Given the description of an element on the screen output the (x, y) to click on. 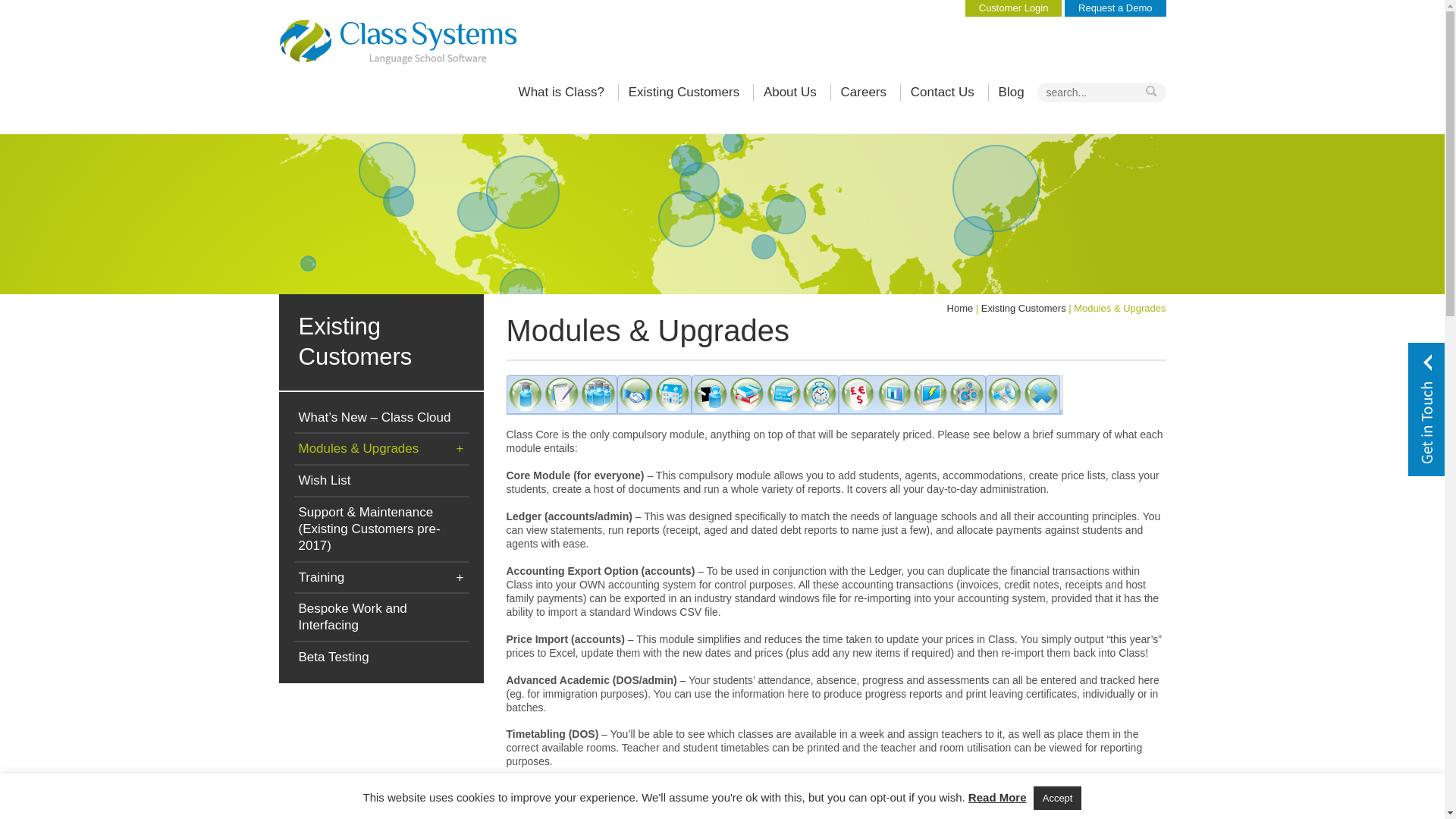
Request a Demo (1115, 8)
Existing Customers (683, 92)
What is Class? (561, 92)
Go to Existing Customers. (1023, 307)
Customer Login (1013, 8)
About Us (789, 92)
Go to Class Systems. (960, 307)
